Given the description of an element on the screen output the (x, y) to click on. 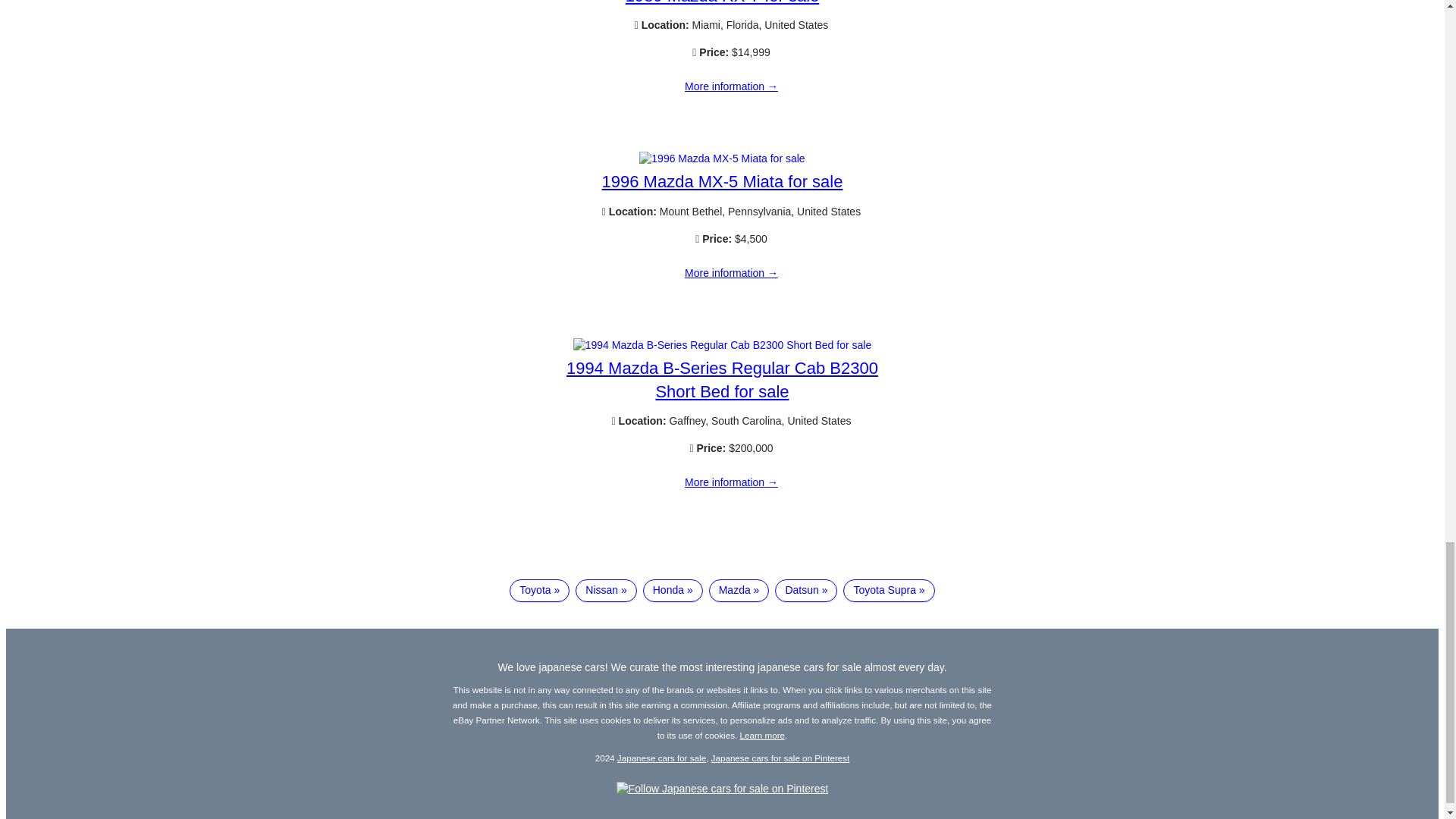
Japanese cars for sale (661, 757)
Mazda (739, 590)
Japanese cars for sale on Pinterest (780, 757)
Nissan (605, 590)
Datsun (805, 590)
Toyota Supra (888, 590)
Honda (673, 590)
Follow Japanese cars for sale on Pinterest (721, 788)
1994 Mazda B-Series Regular Cab B2300 Short Bed for sale (731, 482)
1989 Mazda RX-7 for sale (731, 86)
